Given the description of an element on the screen output the (x, y) to click on. 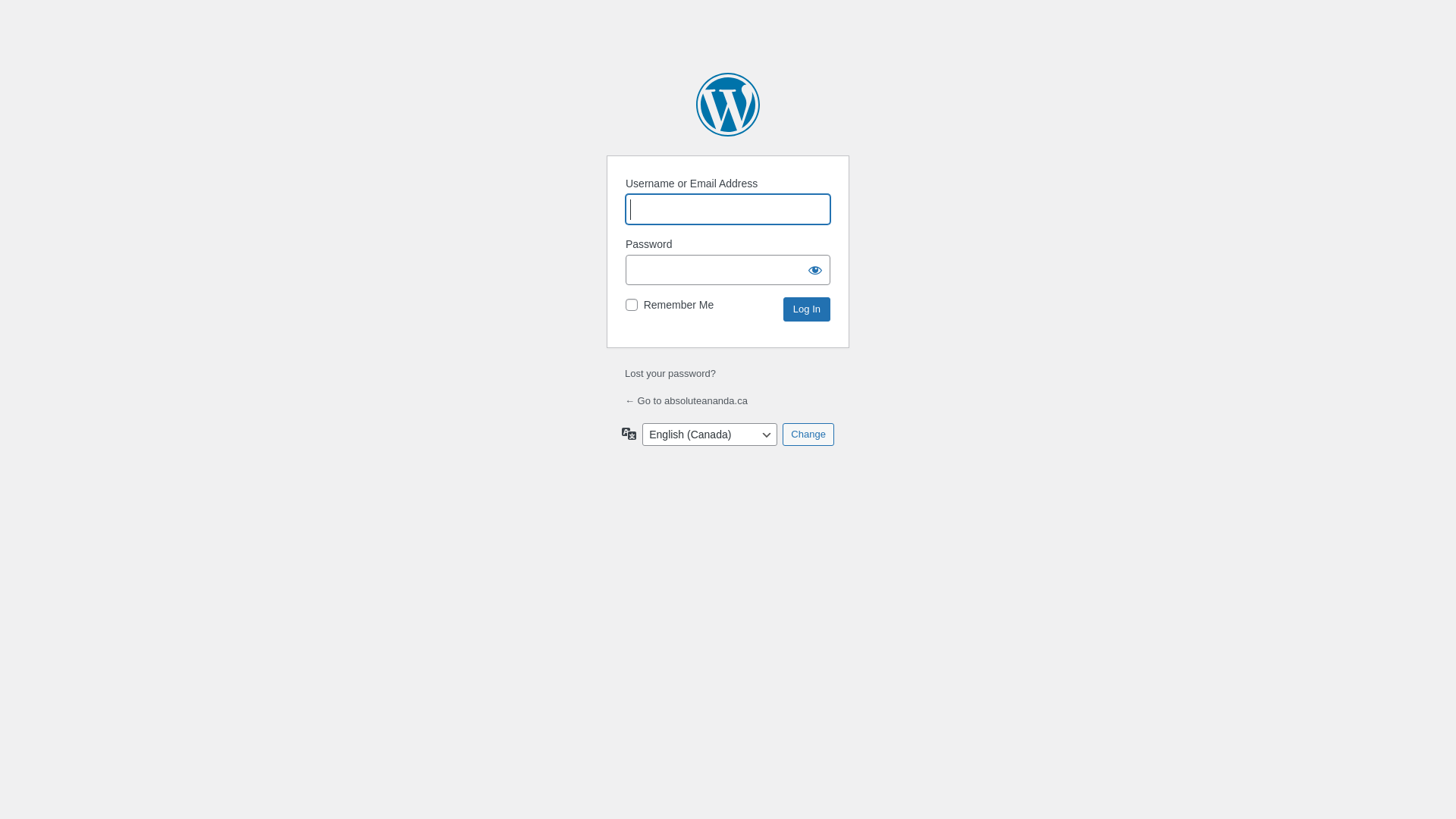
Change Element type: text (808, 434)
Lost your password? Element type: text (669, 373)
Powered by WordPress Element type: text (727, 104)
Log In Element type: text (806, 309)
